Given the description of an element on the screen output the (x, y) to click on. 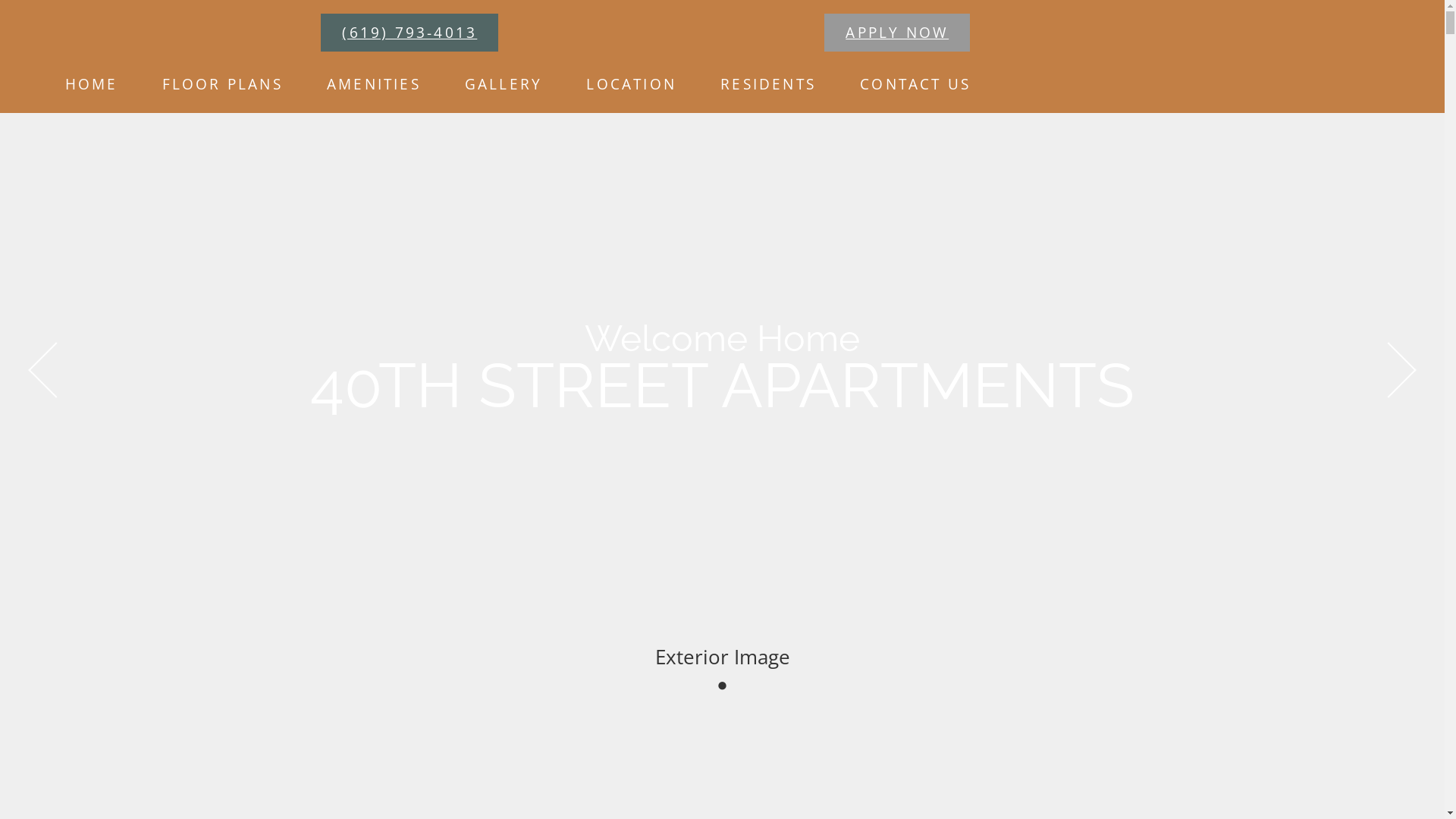
AMENITIES Element type: text (373, 83)
HOME Element type: text (90, 83)
CONTACT US Element type: text (915, 83)
(619) 793-4013 Element type: text (409, 32)
Home Element type: hover (12, 16)
LOCATION Element type: text (630, 83)
RESIDENTS Element type: text (768, 83)
GALLERY Element type: text (503, 83)
APPLY NOW Element type: text (896, 32)
FLOOR PLANS Element type: text (222, 83)
